Given the description of an element on the screen output the (x, y) to click on. 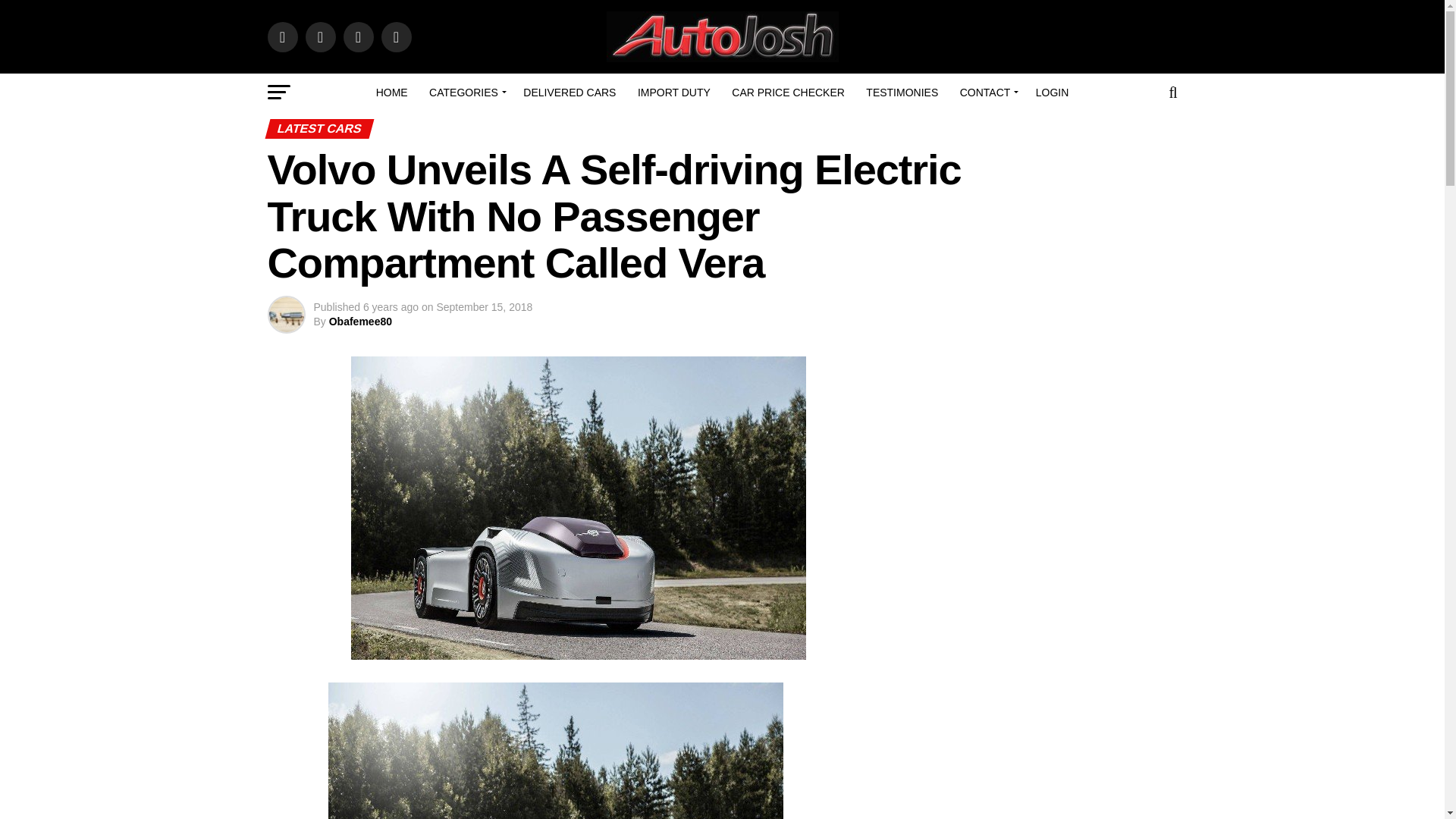
Posts by Obafemee80 (360, 321)
CATEGORIES (465, 92)
HOME (391, 92)
